Given the description of an element on the screen output the (x, y) to click on. 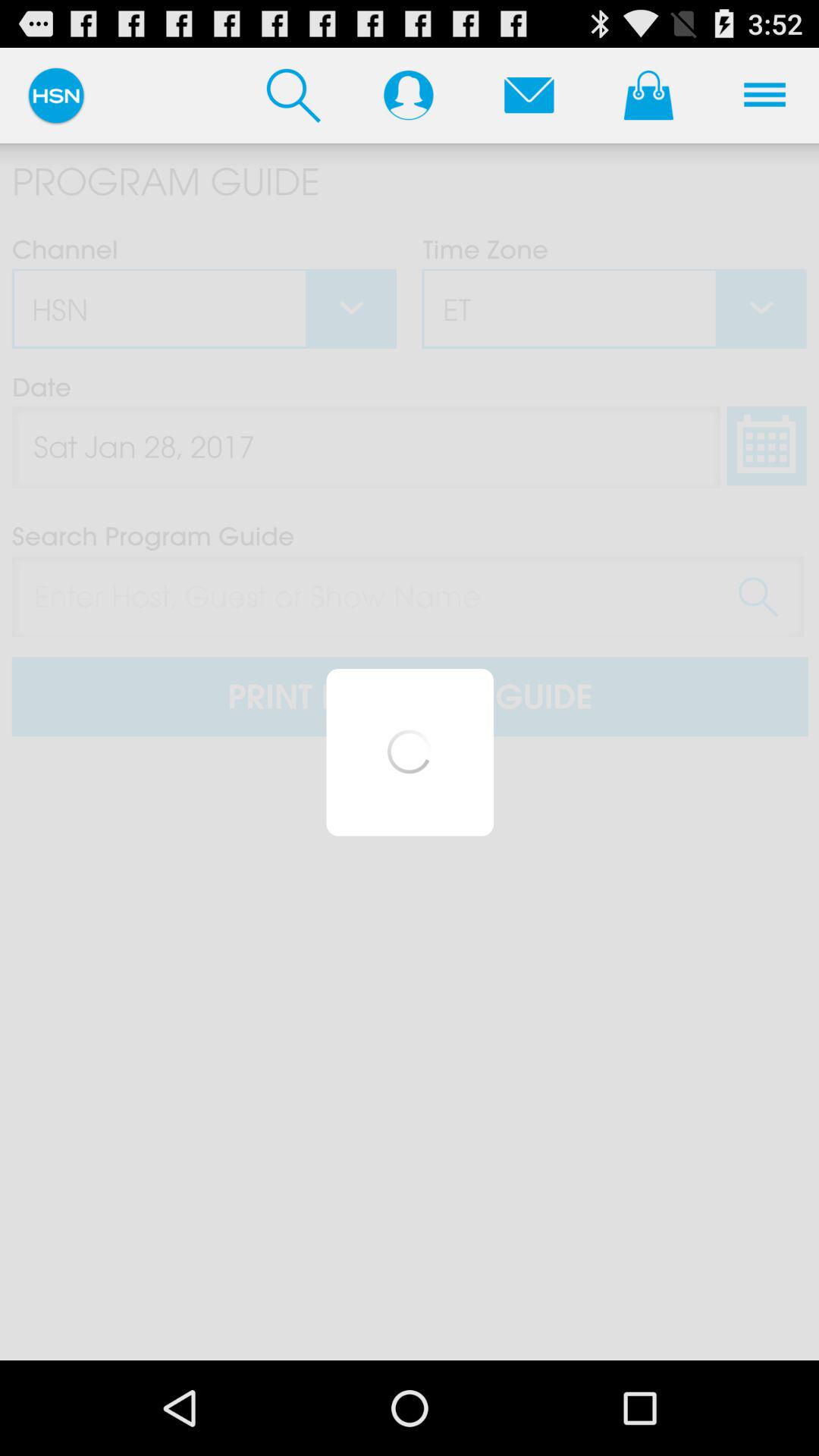
user profile (408, 95)
